Given the description of an element on the screen output the (x, y) to click on. 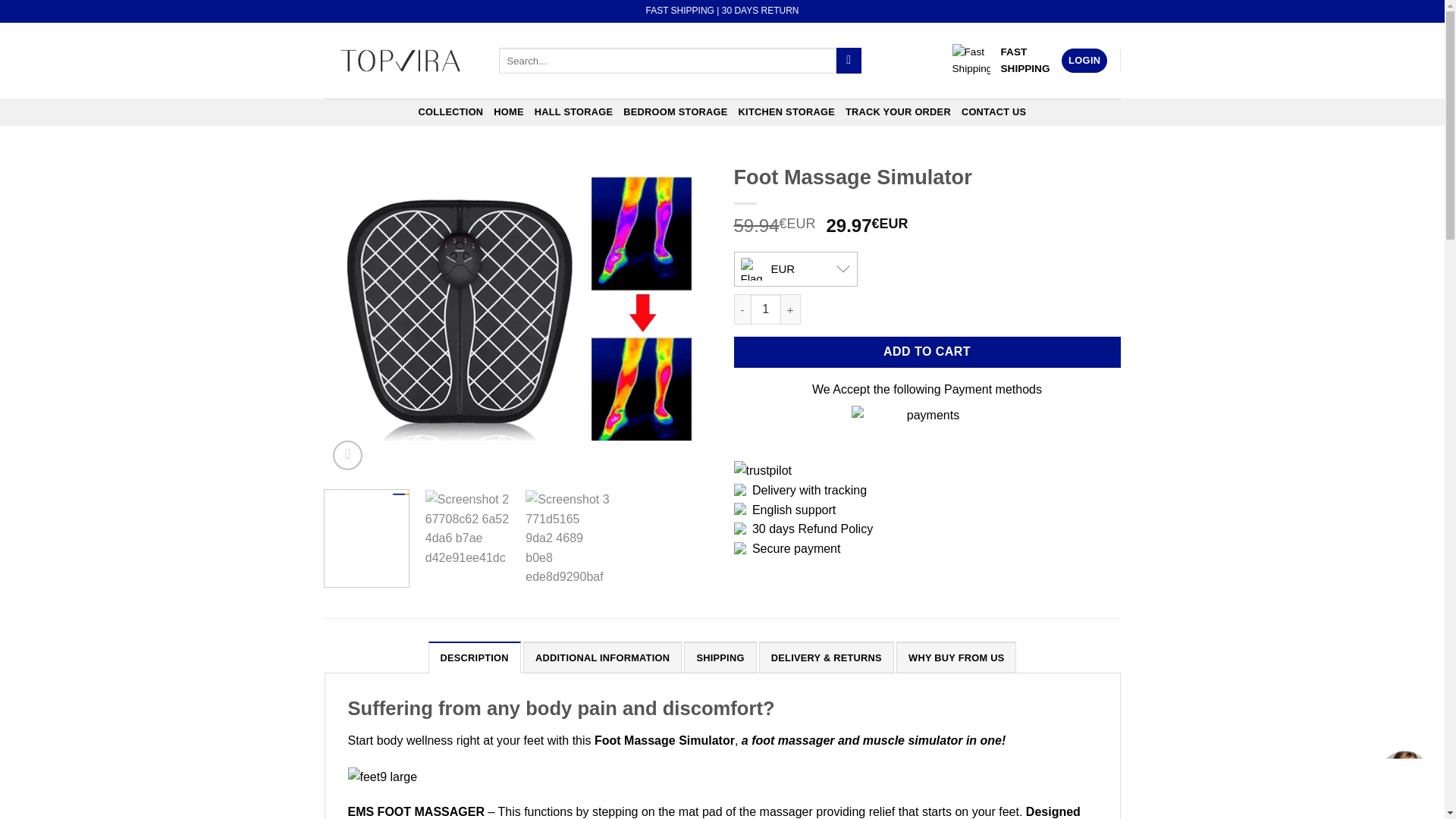
LOGIN (1083, 60)
SHIPPING (719, 657)
Zoom (347, 455)
Foot Massage Simulator 2 (904, 316)
Topvira (400, 60)
BEDROOM STORAGE (674, 112)
HOME (507, 112)
COLLECTION (451, 112)
Search (848, 60)
ADDITIONAL INFORMATION (601, 657)
